Given the description of an element on the screen output the (x, y) to click on. 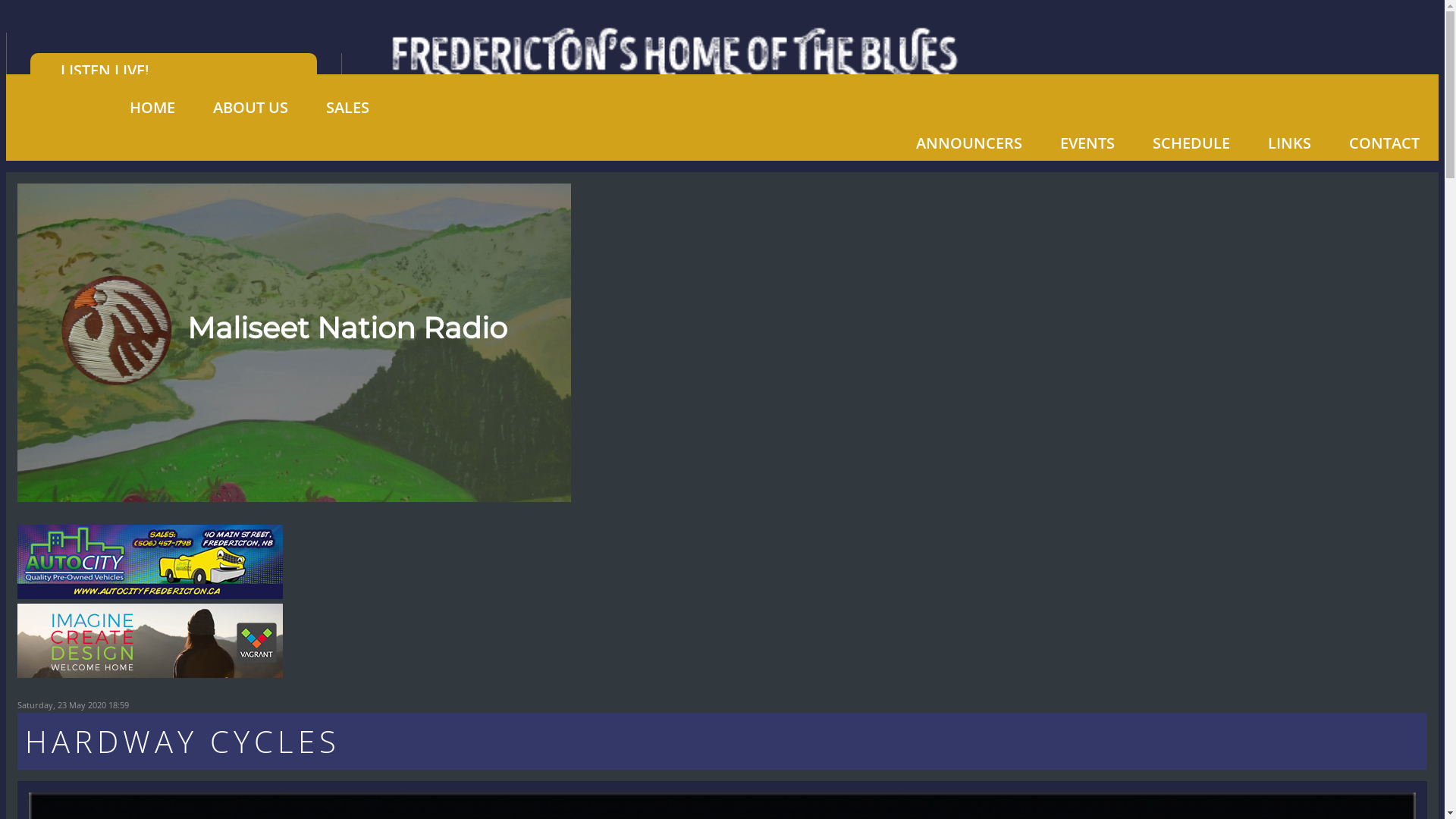
SCHEDULE Element type: text (1190, 142)
EVENTS Element type: text (1087, 142)
ANNOUNCERS Element type: text (969, 142)
ABOUT US Element type: text (250, 107)
Auto City Element type: hover (149, 593)
Maliseet Nation Radio Element type: text (294, 342)
LISTEN LIVE! Element type: text (173, 71)
CONTACT Element type: text (1384, 142)
SALES Element type: text (347, 107)
HOME Element type: text (152, 107)
LINKS Element type: text (1289, 142)
Vagrant Top Element type: hover (149, 672)
